Given the description of an element on the screen output the (x, y) to click on. 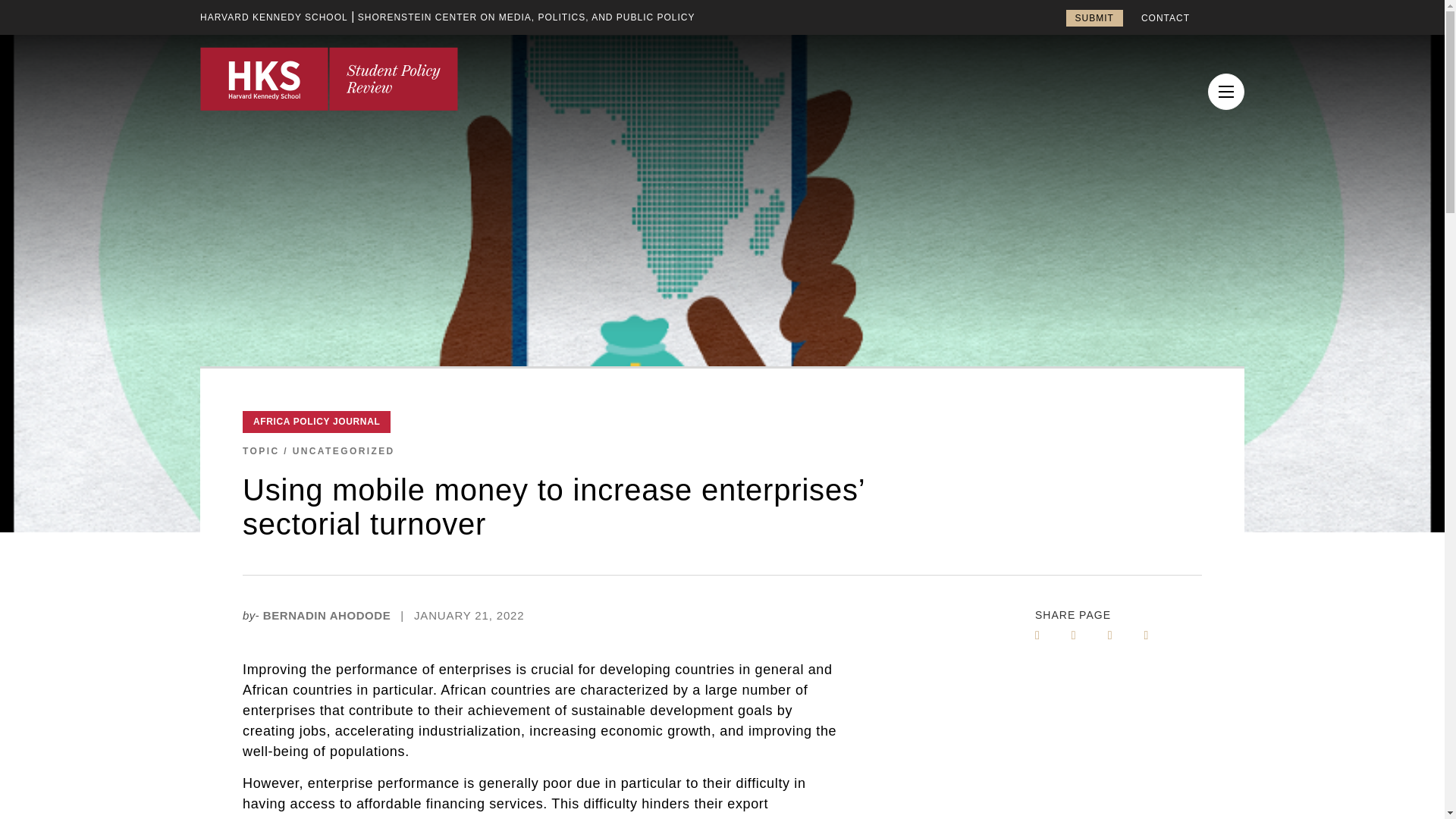
CONTACT (1165, 18)
HARVARD KENNEDY SCHOOL (273, 17)
HKS Student Policy Review (329, 78)
SHORENSTEIN CENTER ON MEDIA, POLITICS, AND PUBLIC POLICY (526, 17)
Shorenstein Center on Media, Politics, and Public Policy (526, 17)
Harvard Kennedy School (273, 17)
SUBMIT (1093, 17)
